Given the description of an element on the screen output the (x, y) to click on. 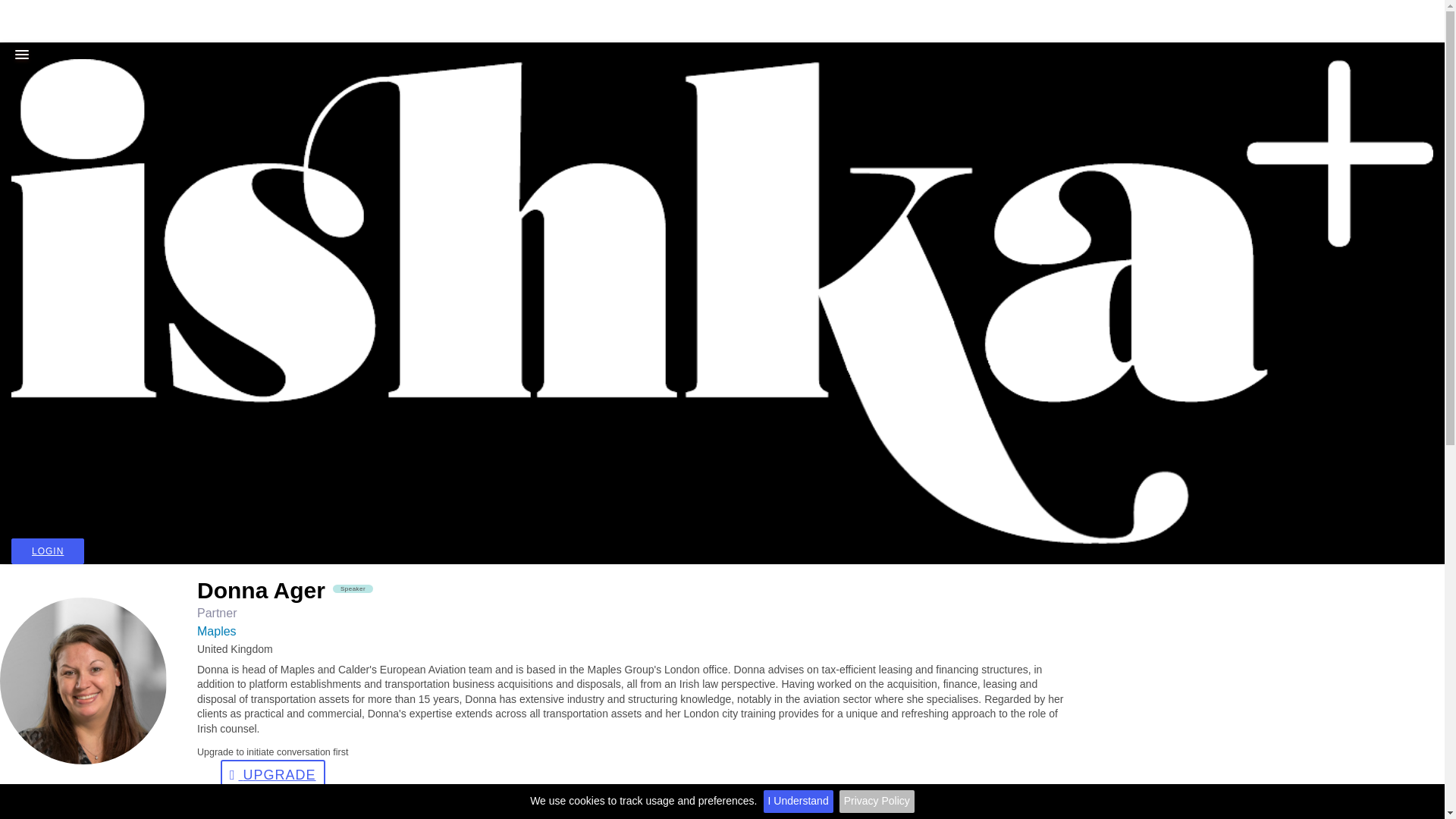
Privacy Policy (877, 801)
SPONSORS (11, 161)
I Understand (797, 801)
SPEAKERS (11, 127)
HOME (11, 59)
LOGIN (47, 551)
UPGRADE (272, 775)
GALLERY (11, 264)
AGENDA (11, 93)
